Given the description of an element on the screen output the (x, y) to click on. 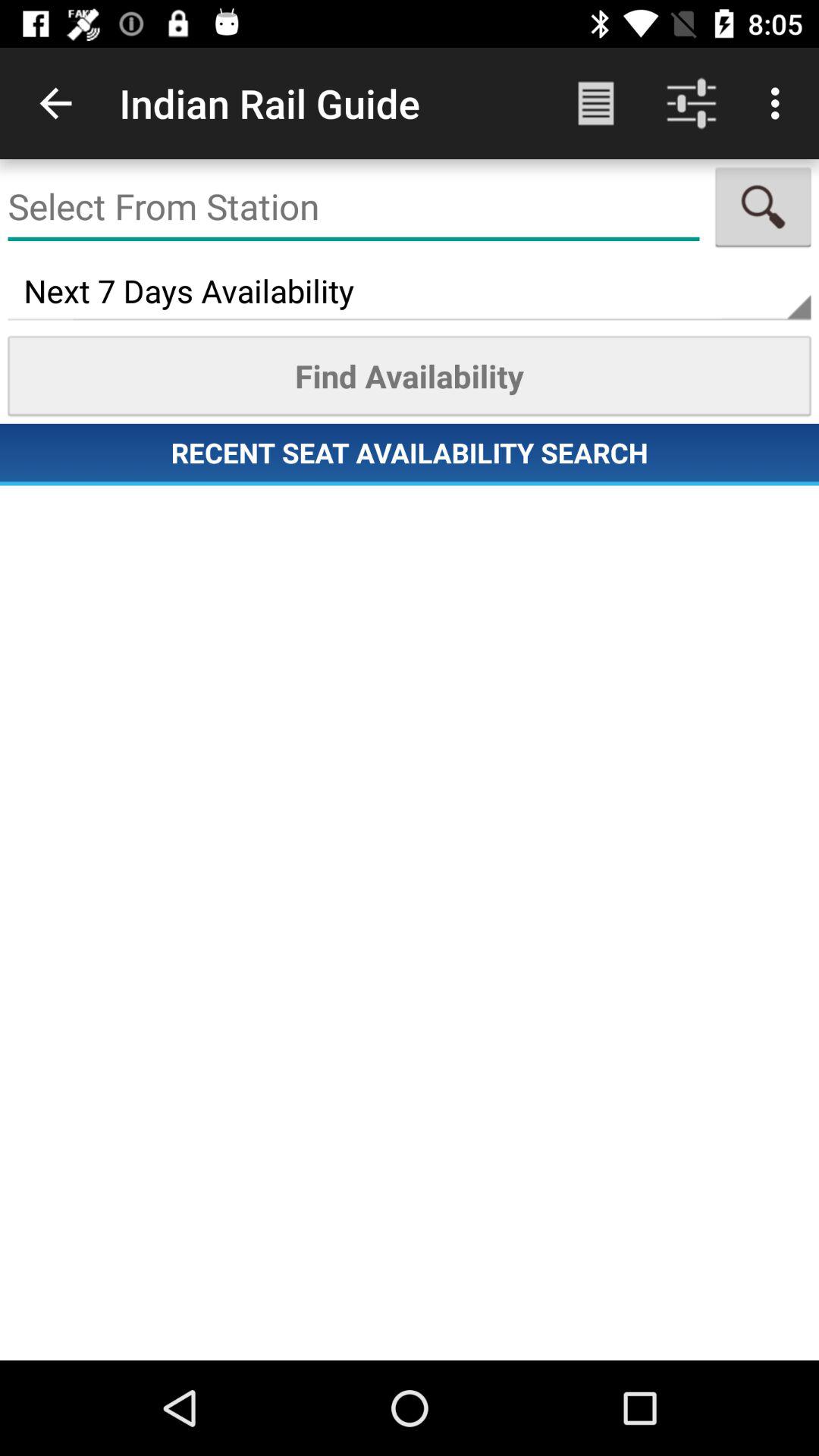
search option (763, 206)
